Given the description of an element on the screen output the (x, y) to click on. 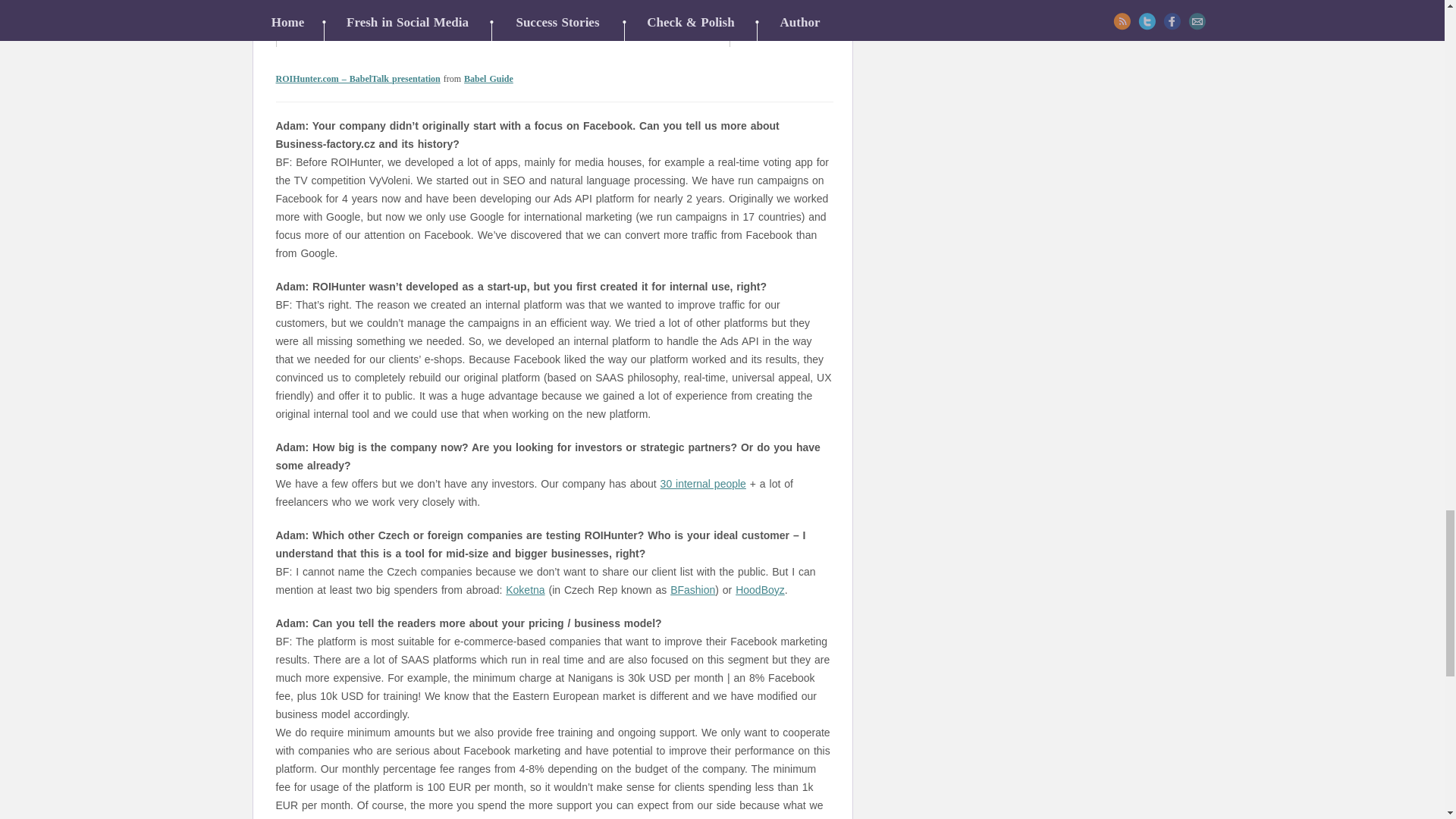
BFashion (691, 589)
Babel Guide (488, 78)
30 internal people (703, 483)
ROIHunter.com - BabelTalk presentation (358, 78)
HoodBoyz (759, 589)
Koketna (524, 589)
